Given the description of an element on the screen output the (x, y) to click on. 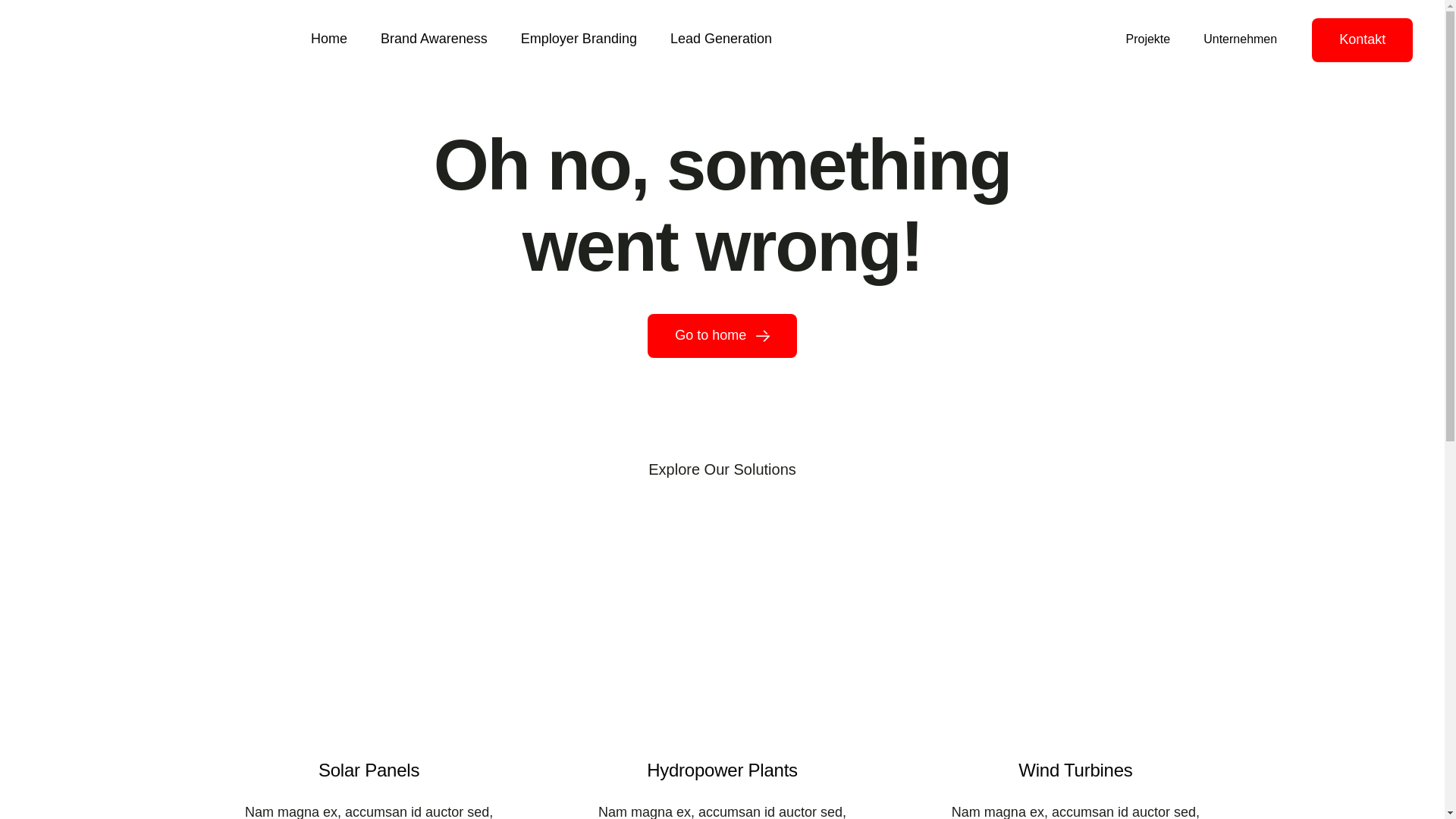
Solar Panels Element type: hover (369, 628)
Projekte Element type: text (1147, 39)
Lead Generation Element type: text (721, 40)
Home Element type: text (328, 40)
Go to home Element type: text (722, 335)
Hydropower Plants Element type: hover (721, 628)
Unternehmen Element type: text (1240, 39)
Wind Turbines Element type: hover (1075, 628)
Brand Awareness Element type: text (433, 40)
Kontakt Element type: text (1361, 40)
Employer Branding Element type: text (578, 40)
